Given the description of an element on the screen output the (x, y) to click on. 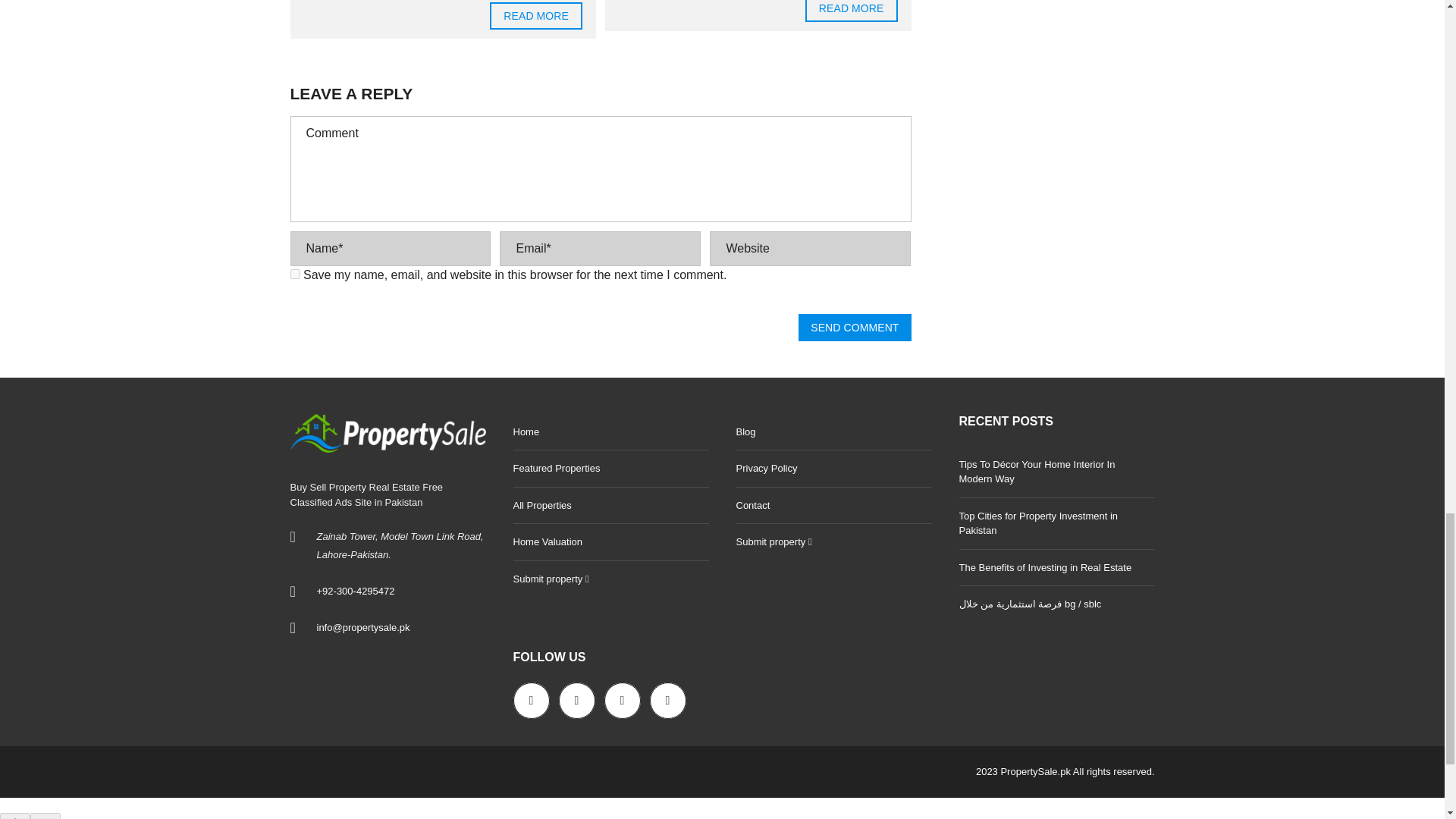
READ MORE (851, 11)
READ MORE (535, 15)
yes (294, 274)
